Given the description of an element on the screen output the (x, y) to click on. 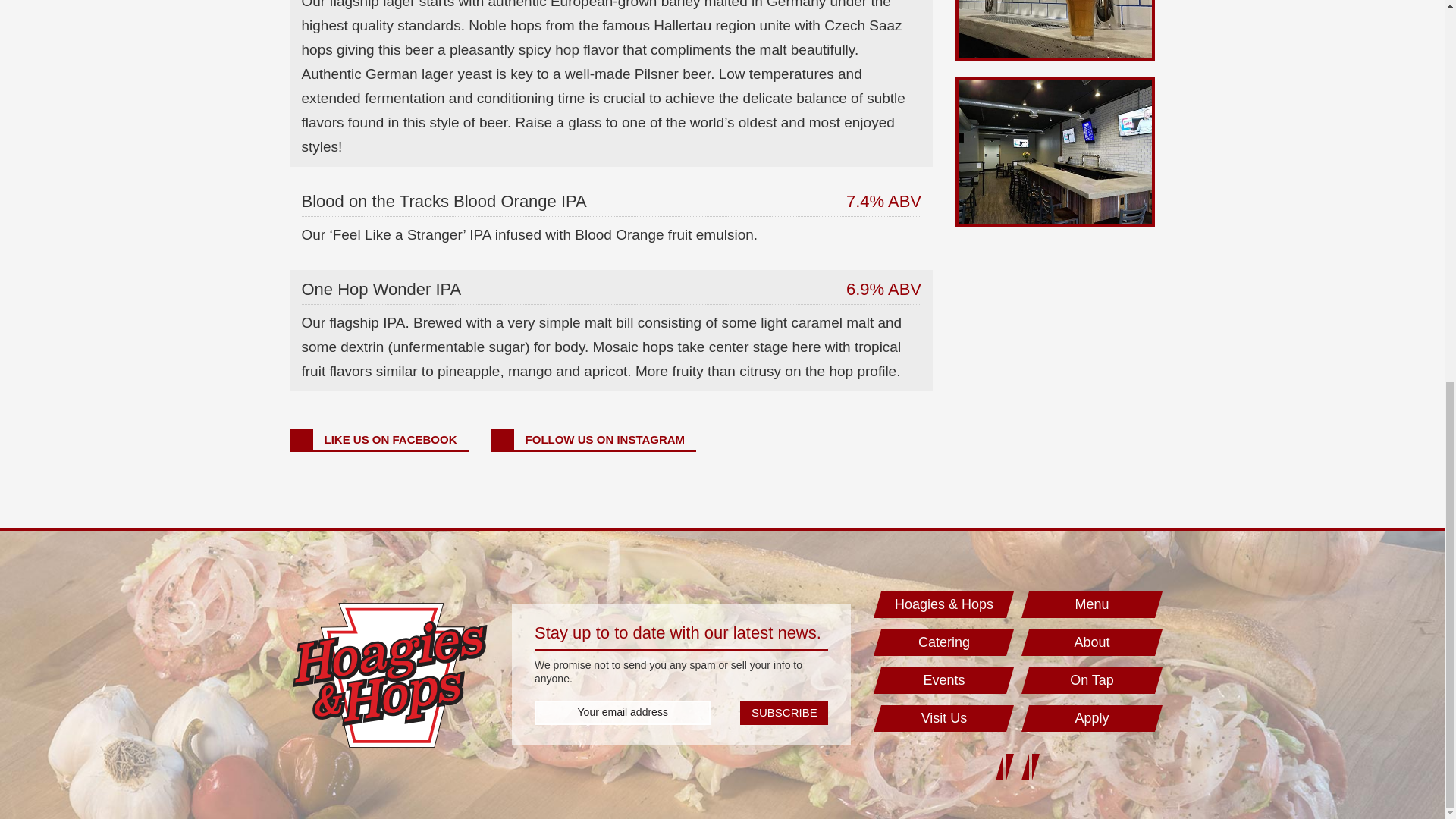
Visit Us (943, 718)
Subscribe (783, 712)
Events (943, 680)
FOLLOW US ON INSTAGRAM (594, 440)
Catering (943, 642)
About (1091, 642)
LIKE US ON FACEBOOK (378, 440)
Menu (1091, 604)
Subscribe (783, 712)
On Tap (1091, 680)
Apply (1091, 718)
